Given the description of an element on the screen output the (x, y) to click on. 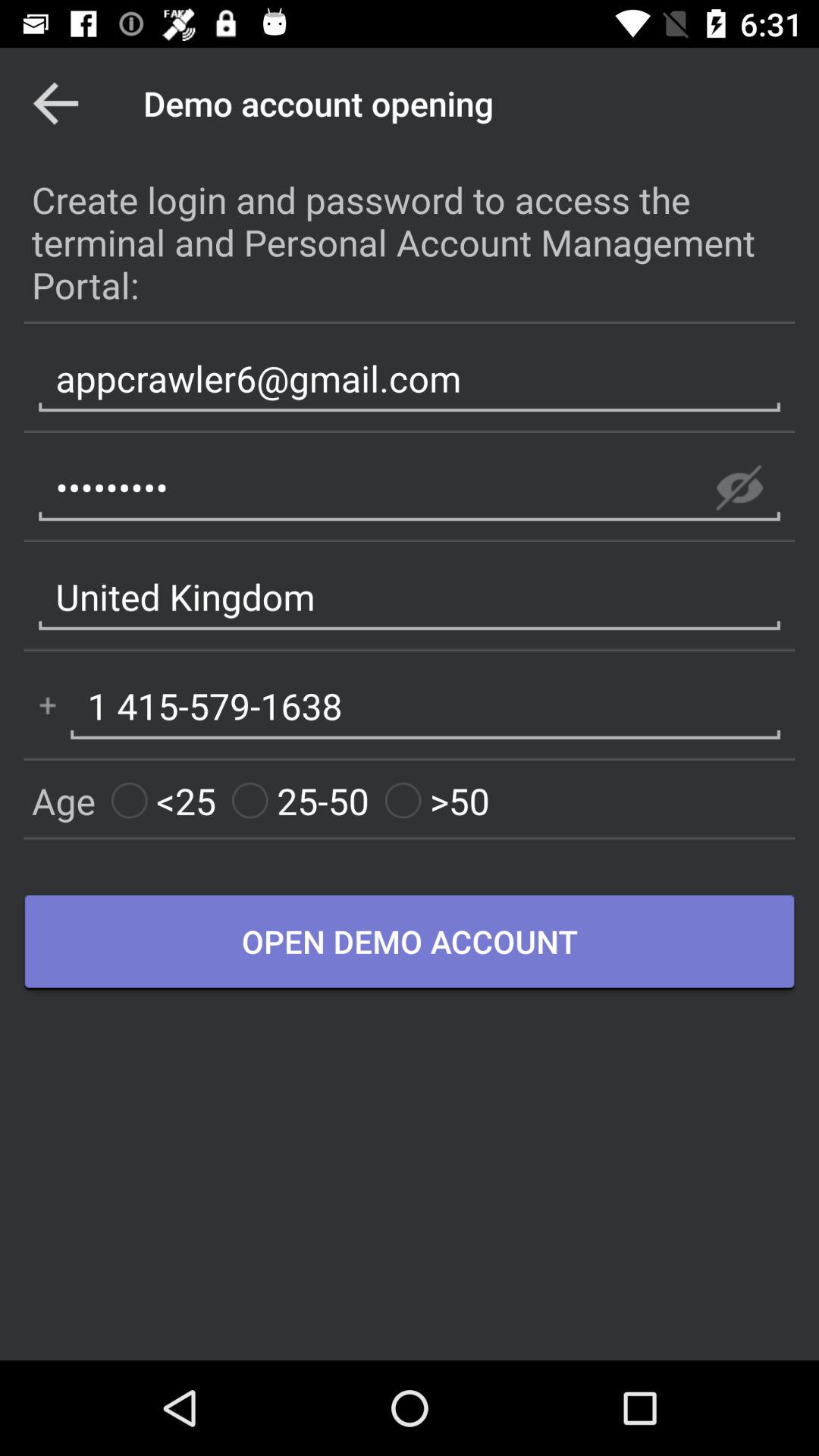
open item next to <25 icon (300, 800)
